Given the description of an element on the screen output the (x, y) to click on. 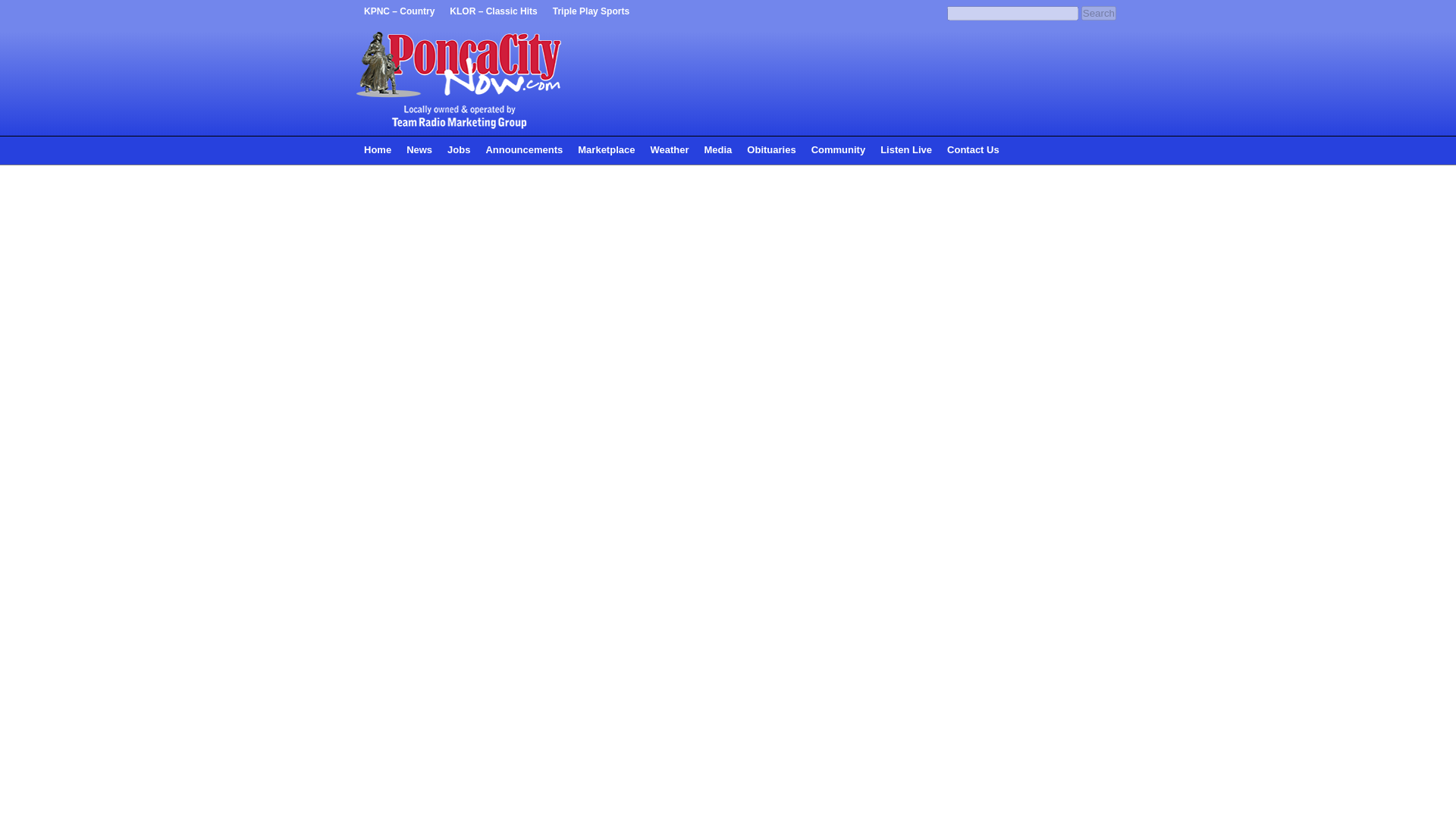
Triple Play Sports (590, 12)
News (418, 149)
Weather (668, 149)
Announcements (523, 149)
Jobs (458, 149)
Community (838, 149)
Contact Us (973, 149)
Search (1098, 12)
Media (717, 149)
Obituaries (771, 149)
Home (377, 149)
Marketplace (606, 149)
Listen Live (905, 149)
Search (1098, 12)
